Given the description of an element on the screen output the (x, y) to click on. 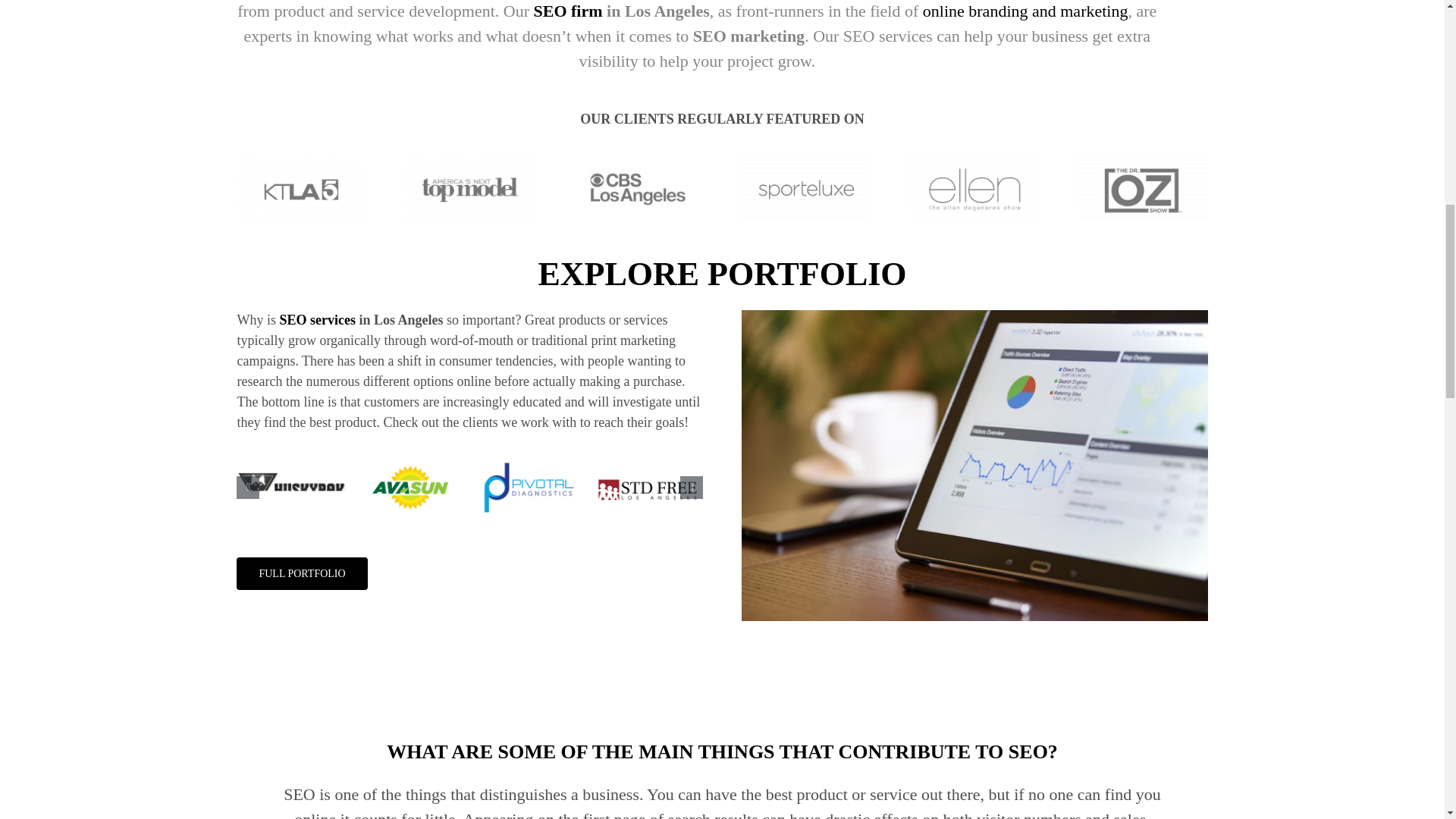
ktla (300, 189)
sportluxe (805, 189)
oz (1143, 189)
topmodel (469, 189)
ellen (974, 189)
cbs (638, 189)
